Given the description of an element on the screen output the (x, y) to click on. 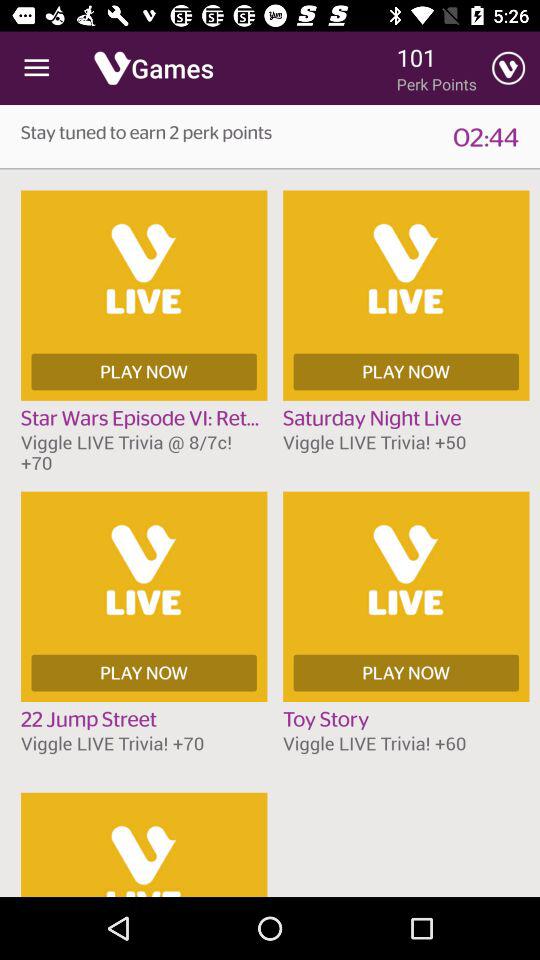
press icon above stay tuned to item (36, 68)
